Given the description of an element on the screen output the (x, y) to click on. 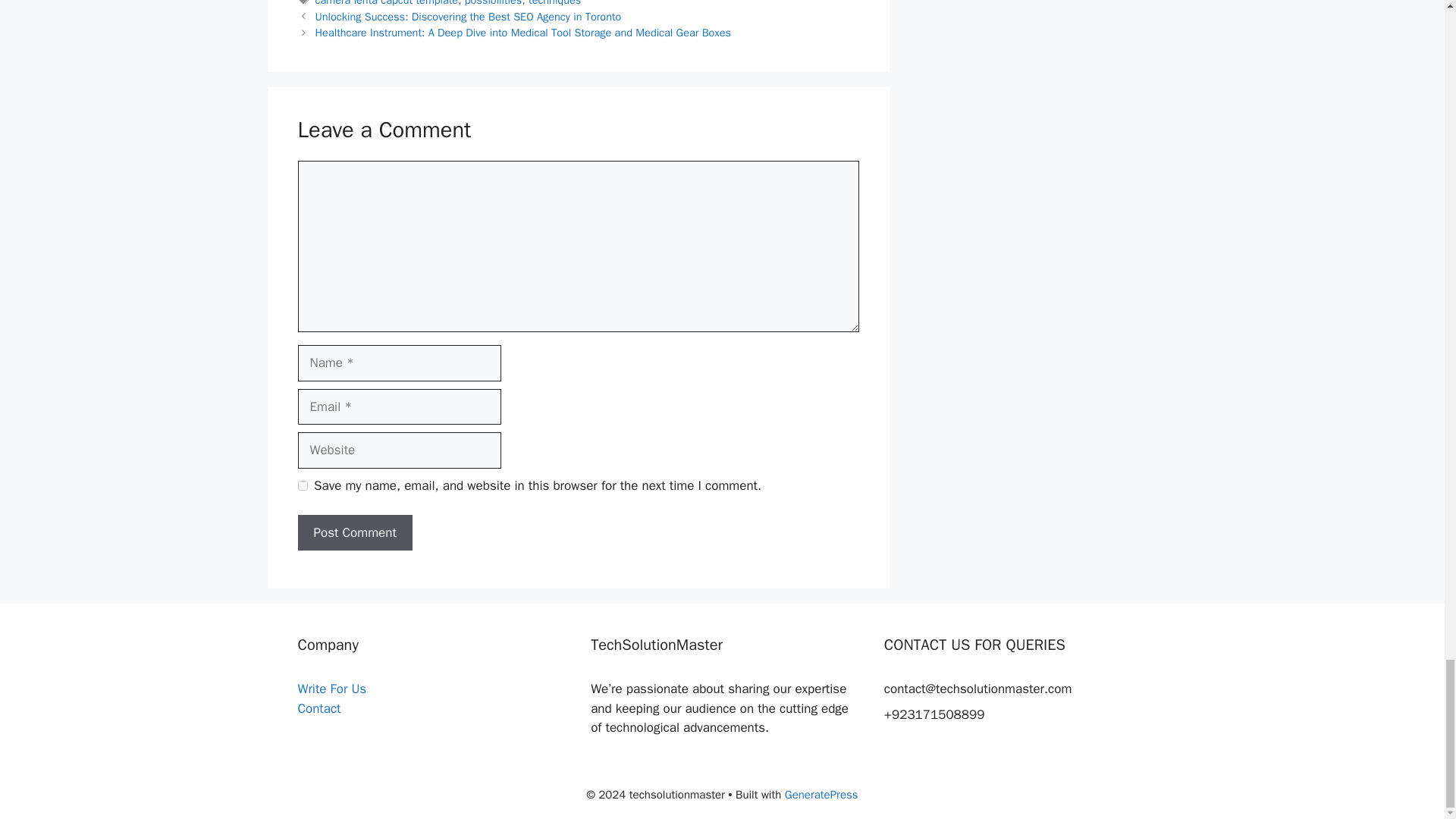
Post Comment (354, 533)
Post Comment (354, 533)
GeneratePress (821, 794)
camera lenta capcut template (386, 3)
Contact (318, 708)
yes (302, 485)
Write For Us (331, 688)
possibilities (493, 3)
techniques (554, 3)
